Given the description of an element on the screen output the (x, y) to click on. 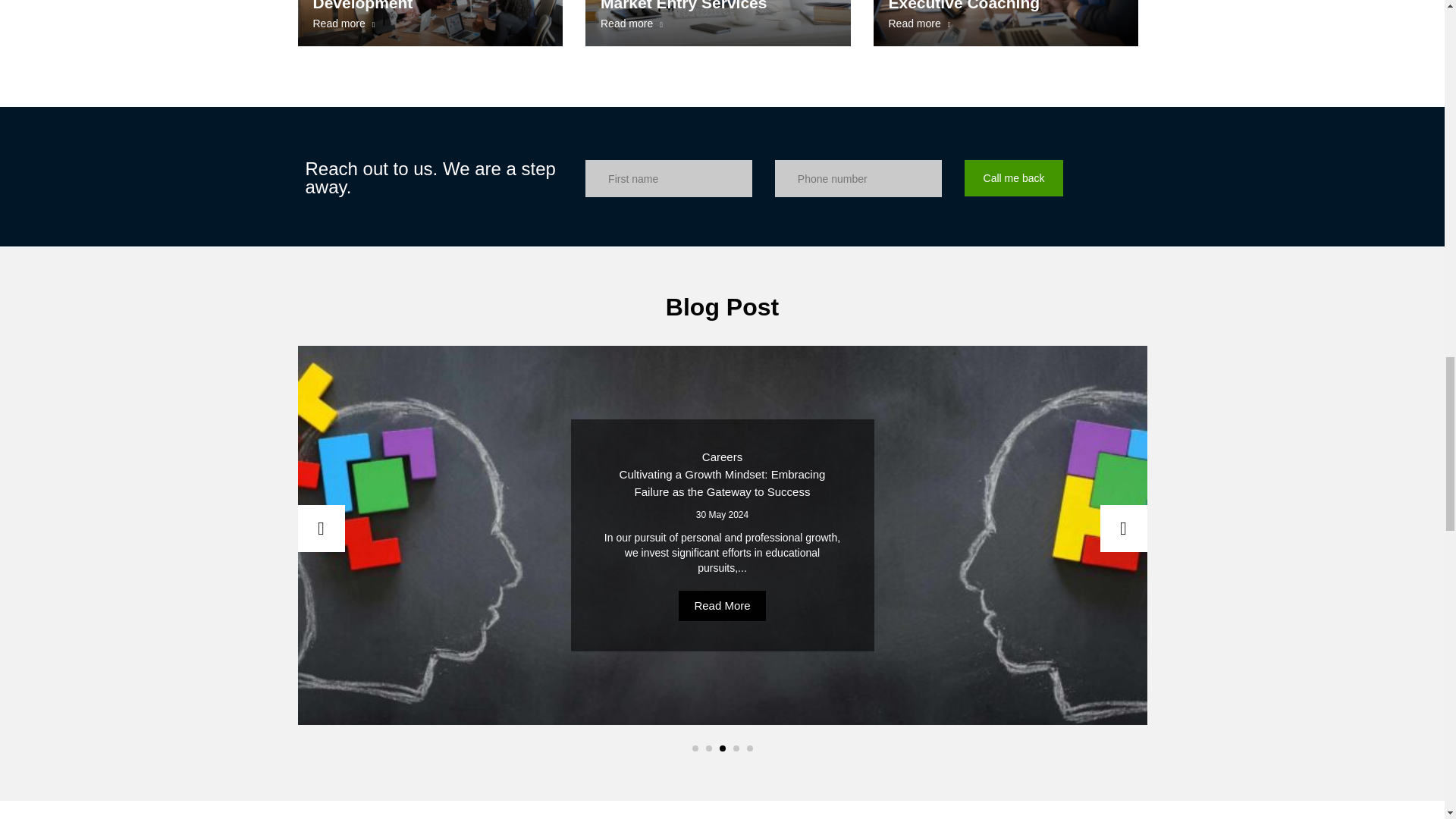
Call me back (1013, 177)
Operational Excellence (1005, 22)
pexels-photo-572056 (717, 22)
previous item (717, 22)
pexels-photo-1181435 (320, 528)
next item (429, 22)
